Given the description of an element on the screen output the (x, y) to click on. 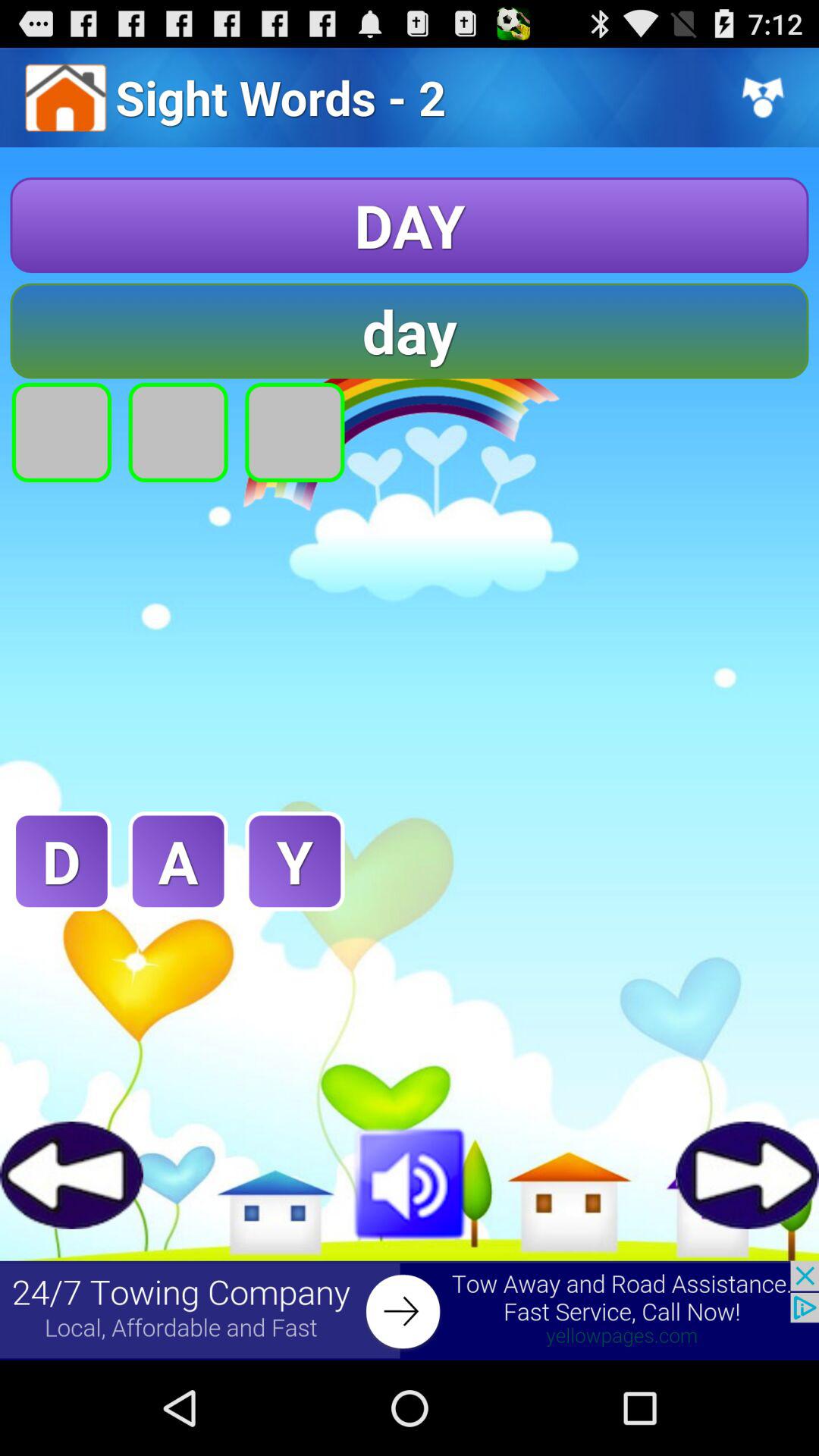
next page (747, 1175)
